Given the description of an element on the screen output the (x, y) to click on. 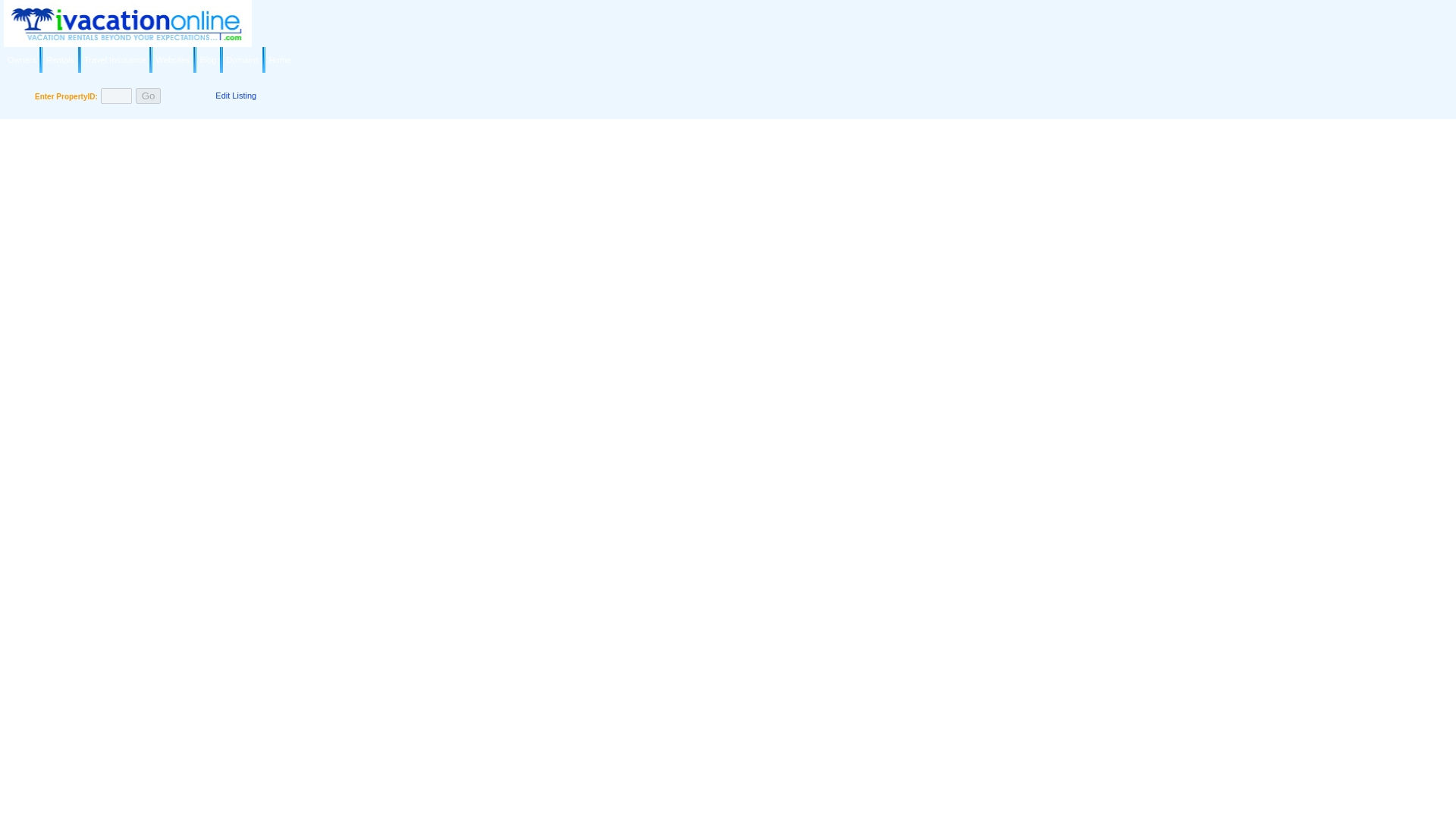
Websites (172, 59)
Edit Listing (235, 94)
Owners (21, 59)
Travel Insurance (115, 59)
Go (148, 95)
Rentals (60, 59)
Go (148, 95)
Blog (207, 59)
Home (280, 59)
Domains (242, 59)
